Given the description of an element on the screen output the (x, y) to click on. 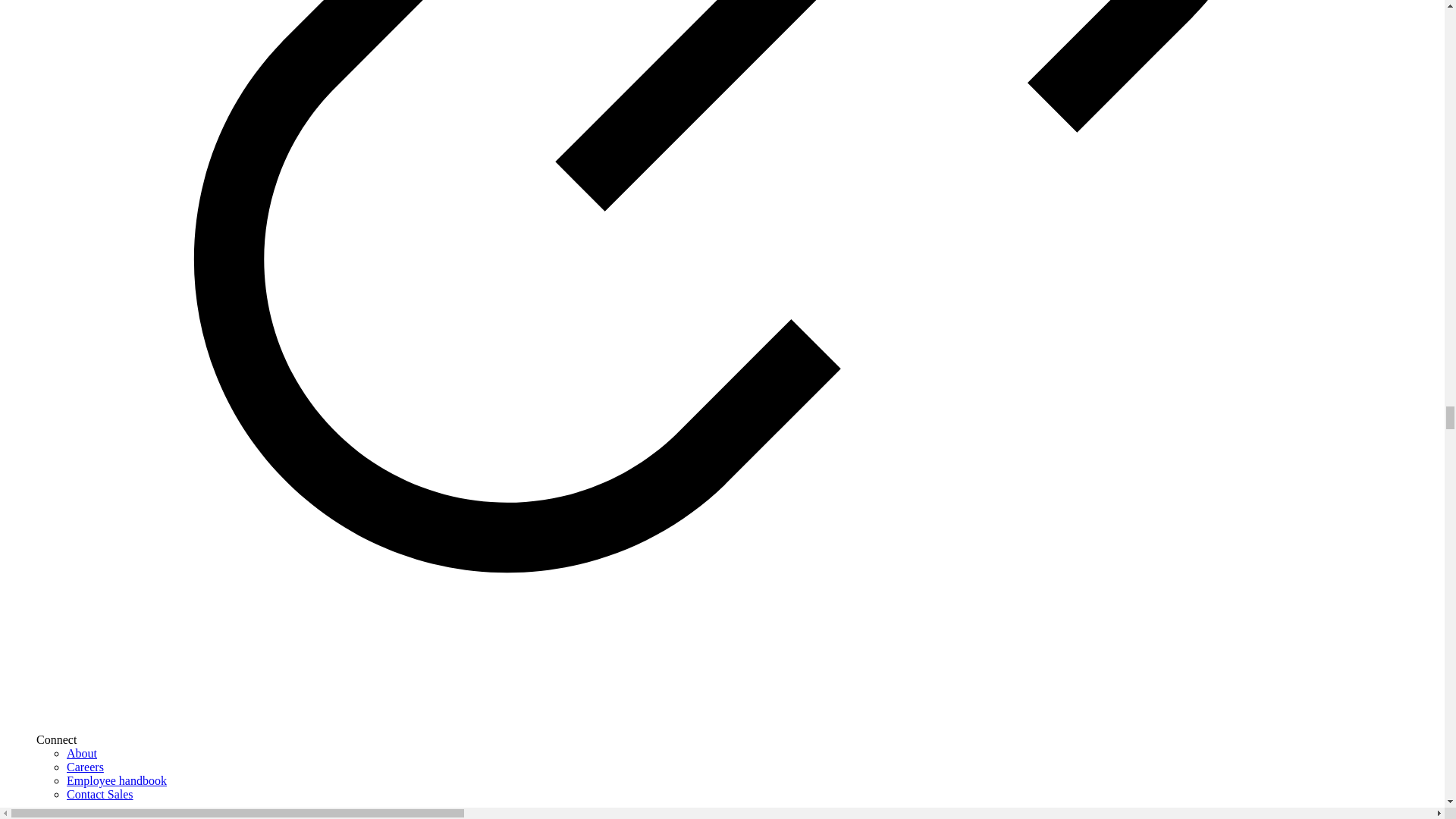
About (81, 753)
Contact Sales (99, 793)
Employee handbook (116, 780)
Careers (84, 766)
